Given the description of an element on the screen output the (x, y) to click on. 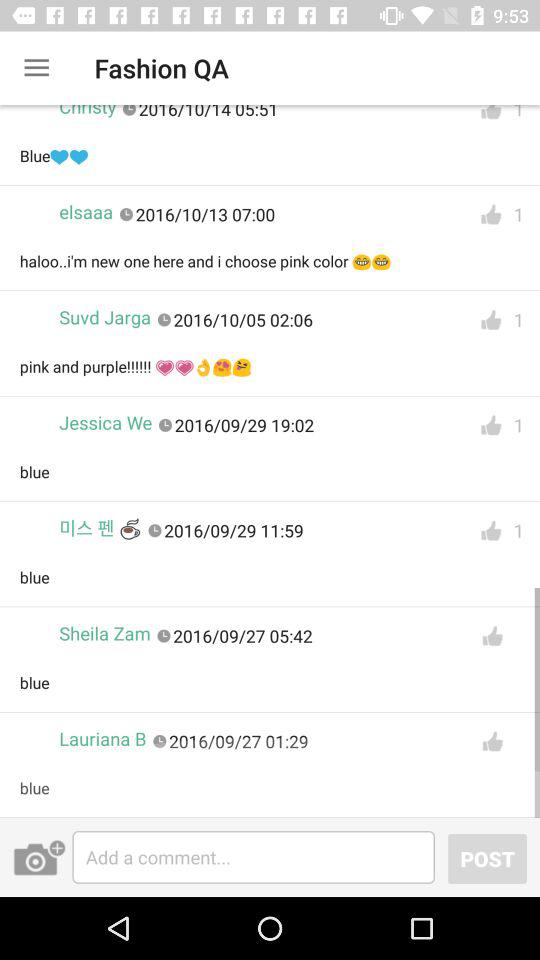
like comment (492, 741)
